Given the description of an element on the screen output the (x, y) to click on. 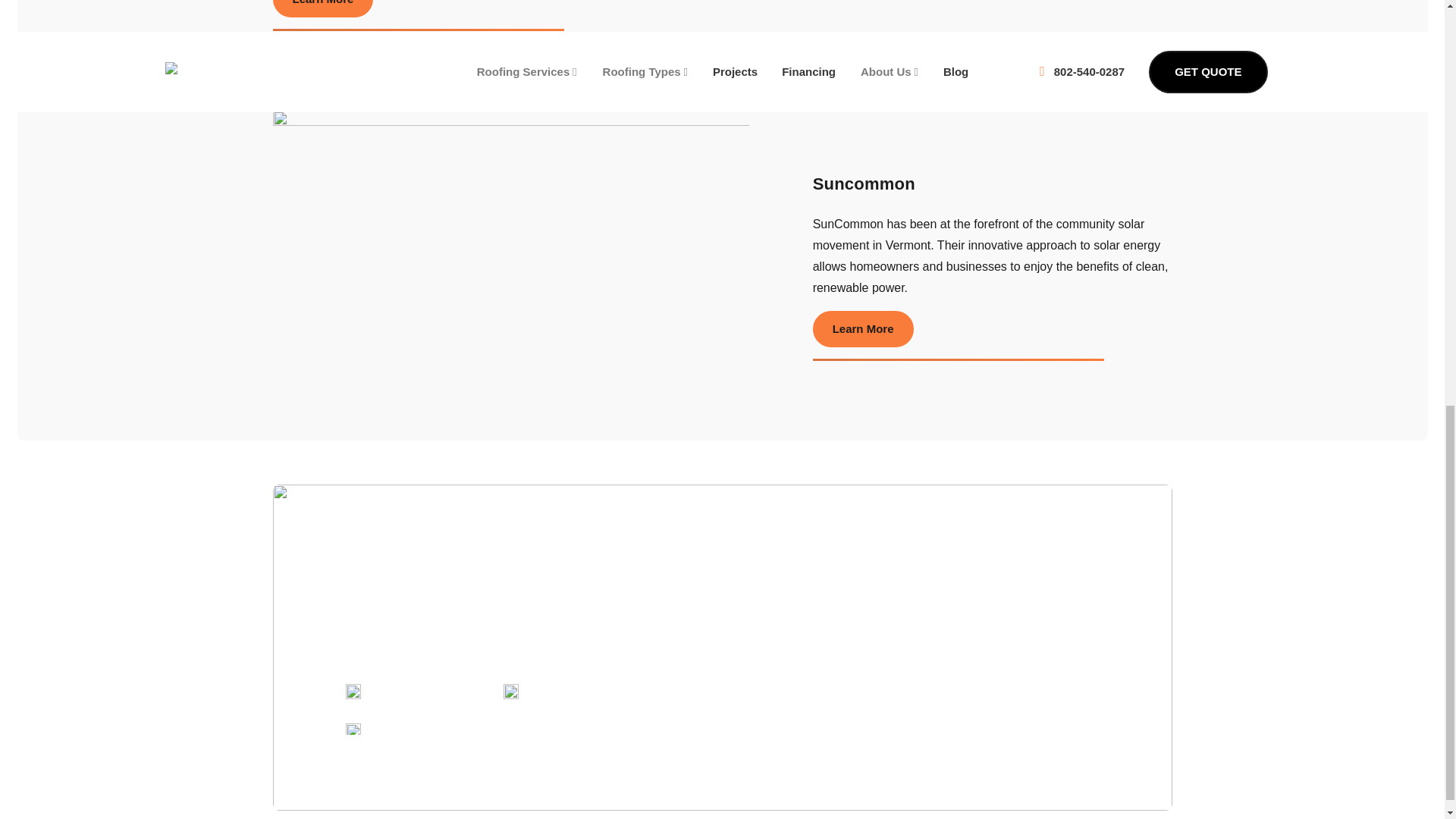
Learn More (863, 329)
366 Troy Ave, Colchester, VT 05446 (615, 691)
802-540-0287 (405, 691)
Learn More (323, 8)
